Given the description of an element on the screen output the (x, y) to click on. 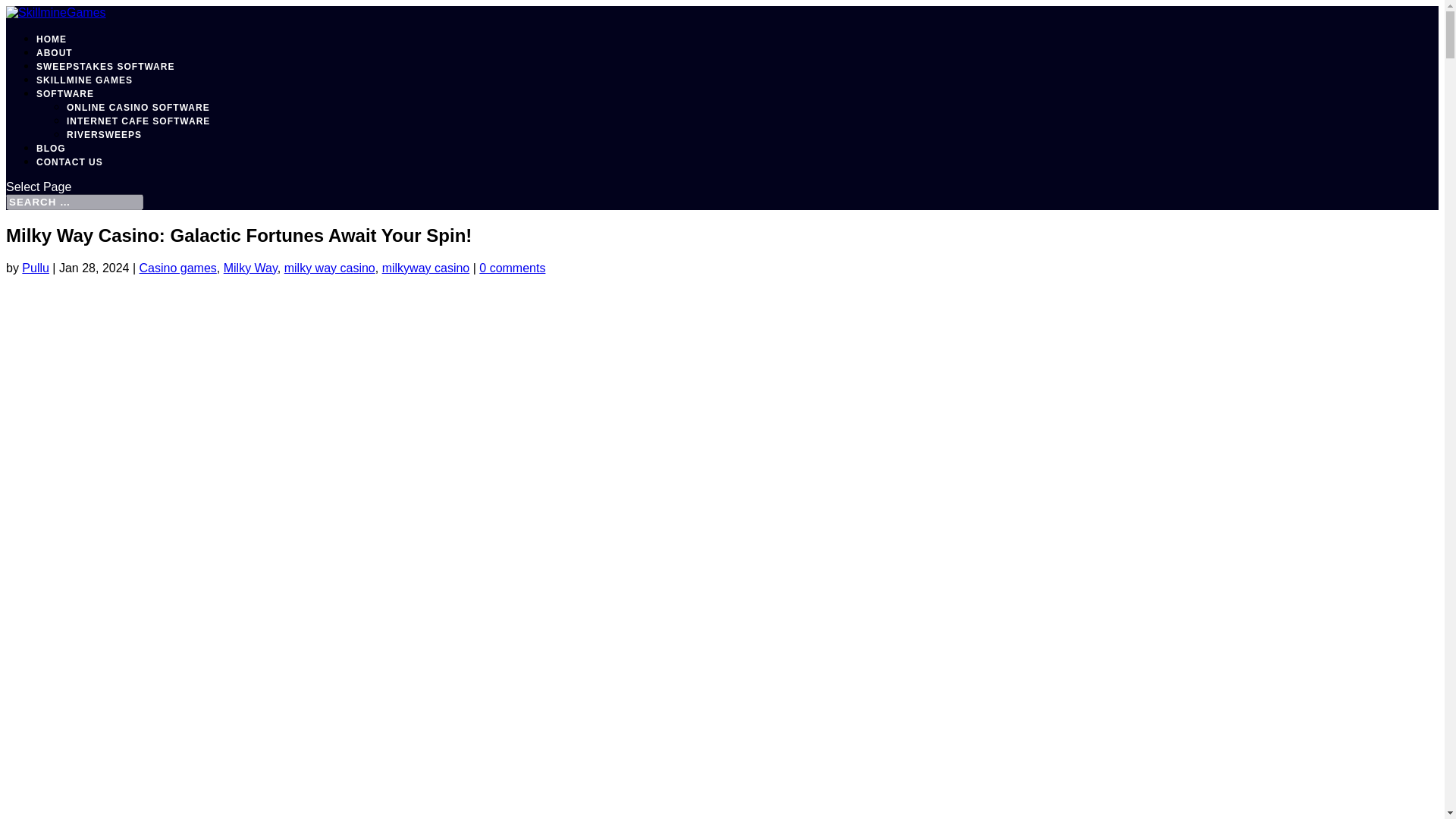
INTERNET CAFE SOFTWARE (137, 121)
Posts by Pullu (35, 267)
SOFTWARE (65, 93)
SKILLMINE GAMES (84, 80)
SWEEPSTAKES SOFTWARE (105, 66)
milky way casino (329, 267)
Search for: (73, 201)
Pullu (35, 267)
Casino games (177, 267)
ABOUT (54, 52)
HOME (51, 39)
0 comments (511, 267)
ONLINE CASINO SOFTWARE (137, 107)
Milky Way (251, 267)
milkyway casino (425, 267)
